Given the description of an element on the screen output the (x, y) to click on. 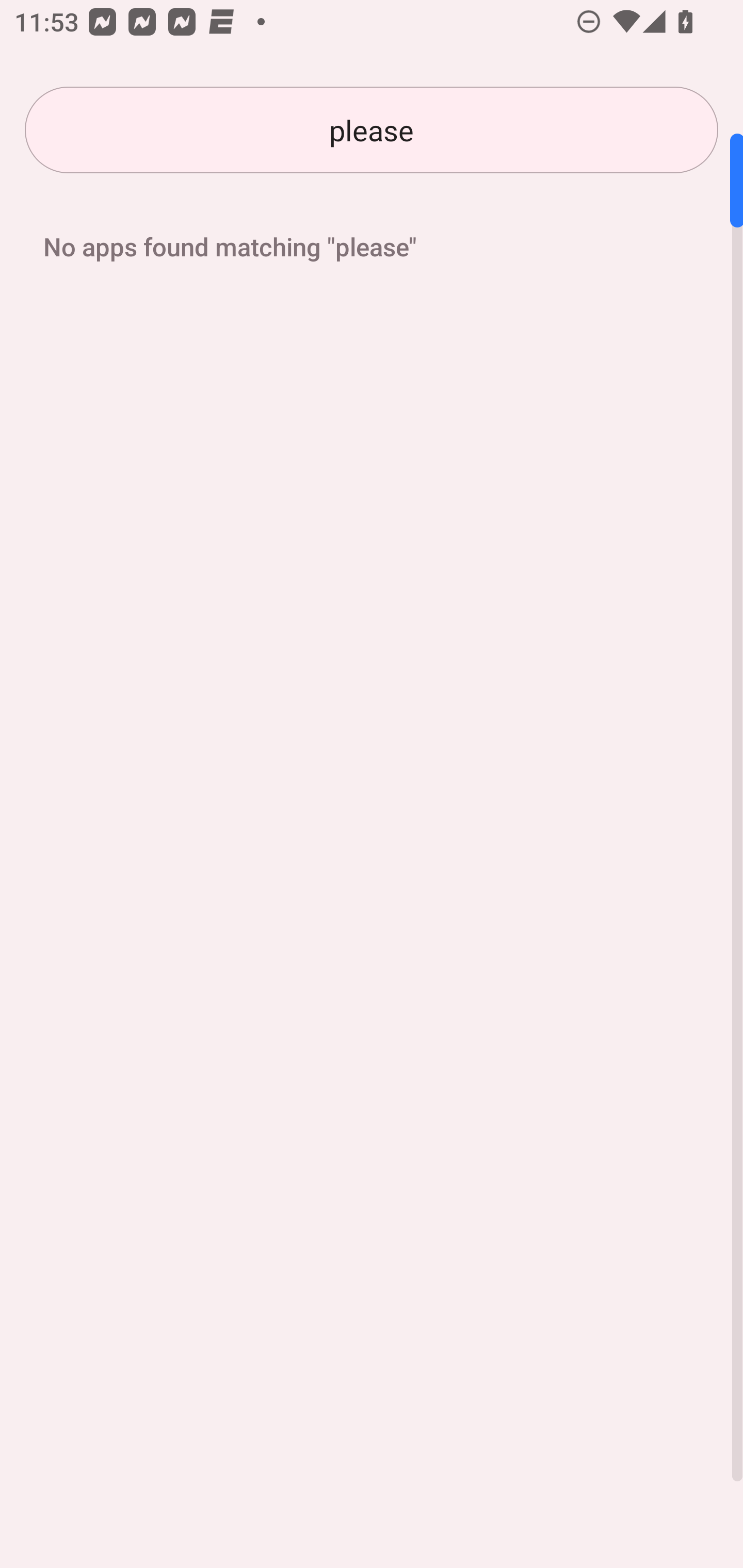
please (371, 130)
